Given the description of an element on the screen output the (x, y) to click on. 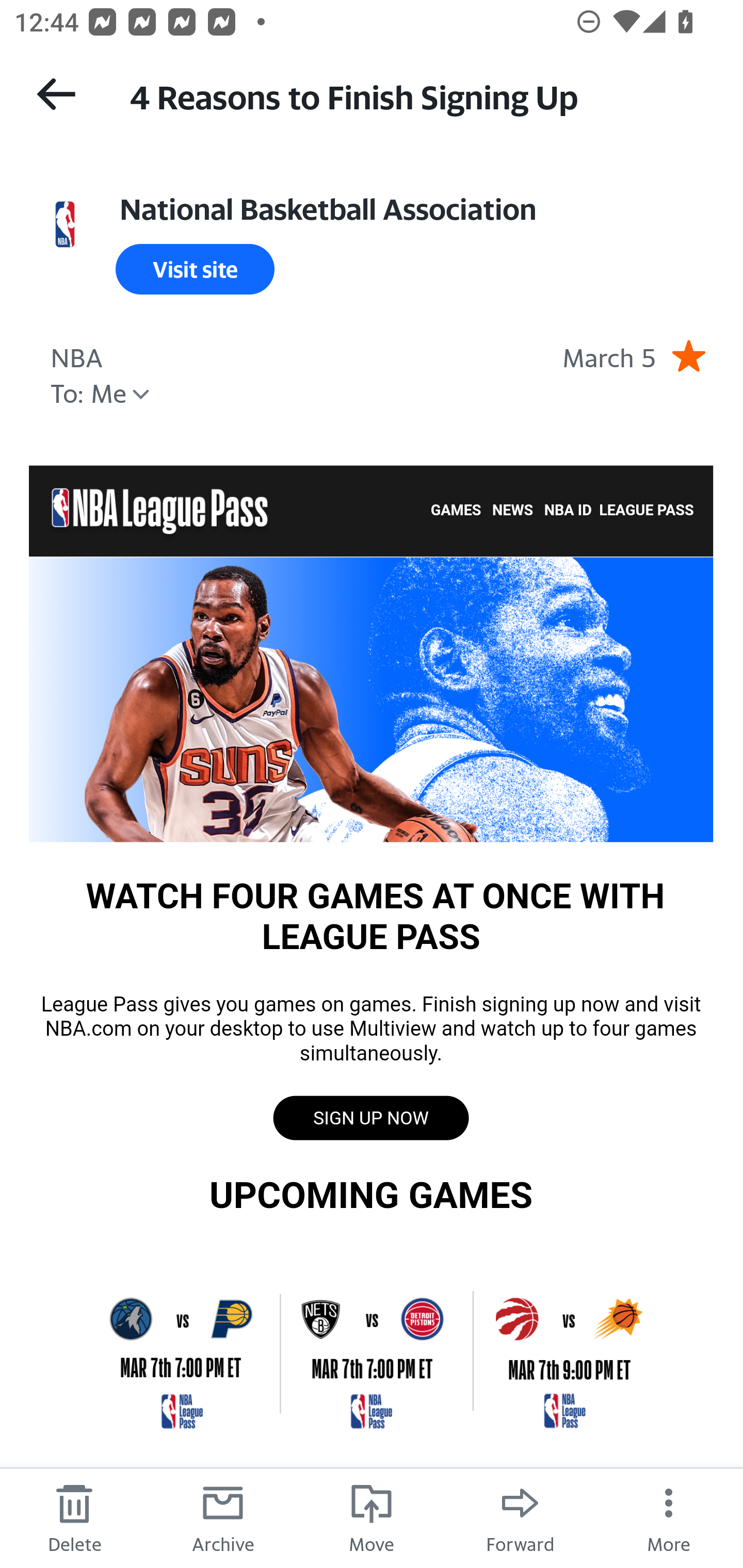
Back (55, 93)
4 Reasons to Finish Signing Up (418, 94)
View all messages from sender (64, 225)
Visit site Visit Site Link (194, 269)
NBA Sender NBA (76, 355)
Remove star. (688, 355)
GAMES (455, 510)
NEWS (512, 510)
NBA ID (567, 510)
LEAGUE PASS (645, 510)
WATCH FOUR GAMES AT ONCE WITH LEAGUE PASS (370, 698)
SIGN UP NOW (370, 1118)
Game Schedule (370, 1352)
Delete (74, 1517)
Archive (222, 1517)
Move (371, 1517)
Forward (519, 1517)
More (668, 1517)
